Given the description of an element on the screen output the (x, y) to click on. 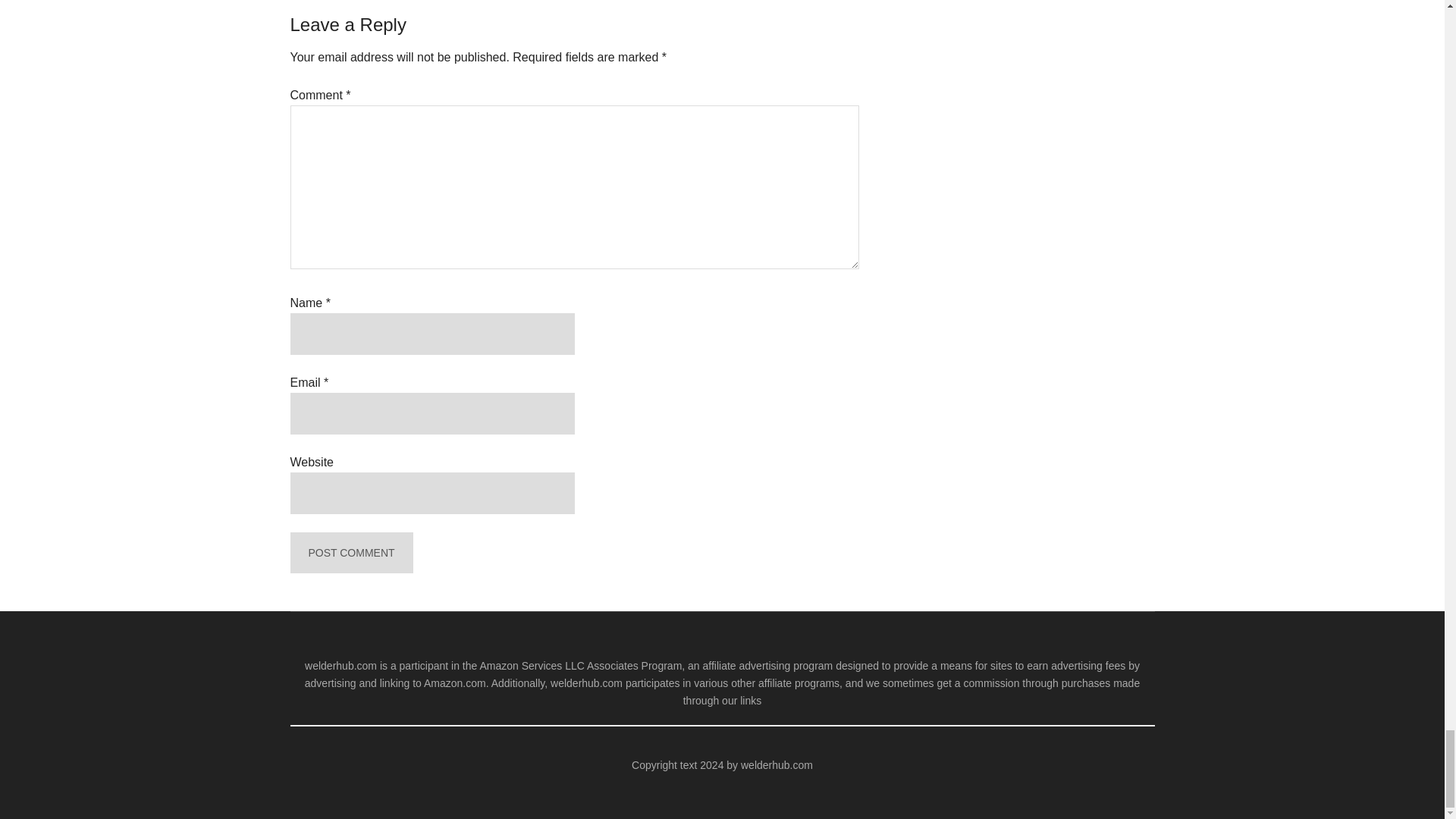
Post Comment (350, 553)
Post Comment (350, 553)
